Given the description of an element on the screen output the (x, y) to click on. 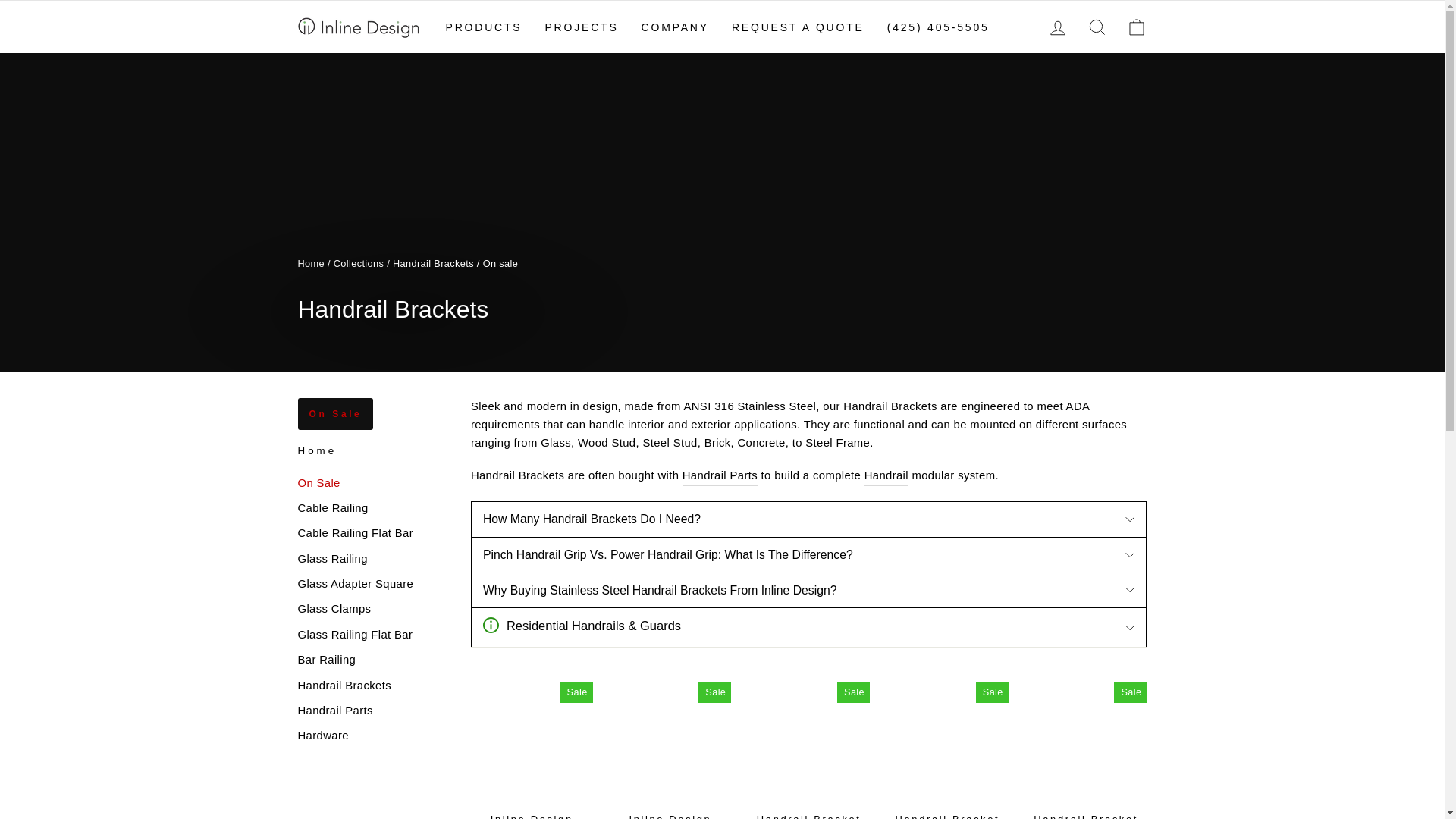
Back to the frontpage (310, 263)
Remove tag On Sale (334, 413)
